Given the description of an element on the screen output the (x, y) to click on. 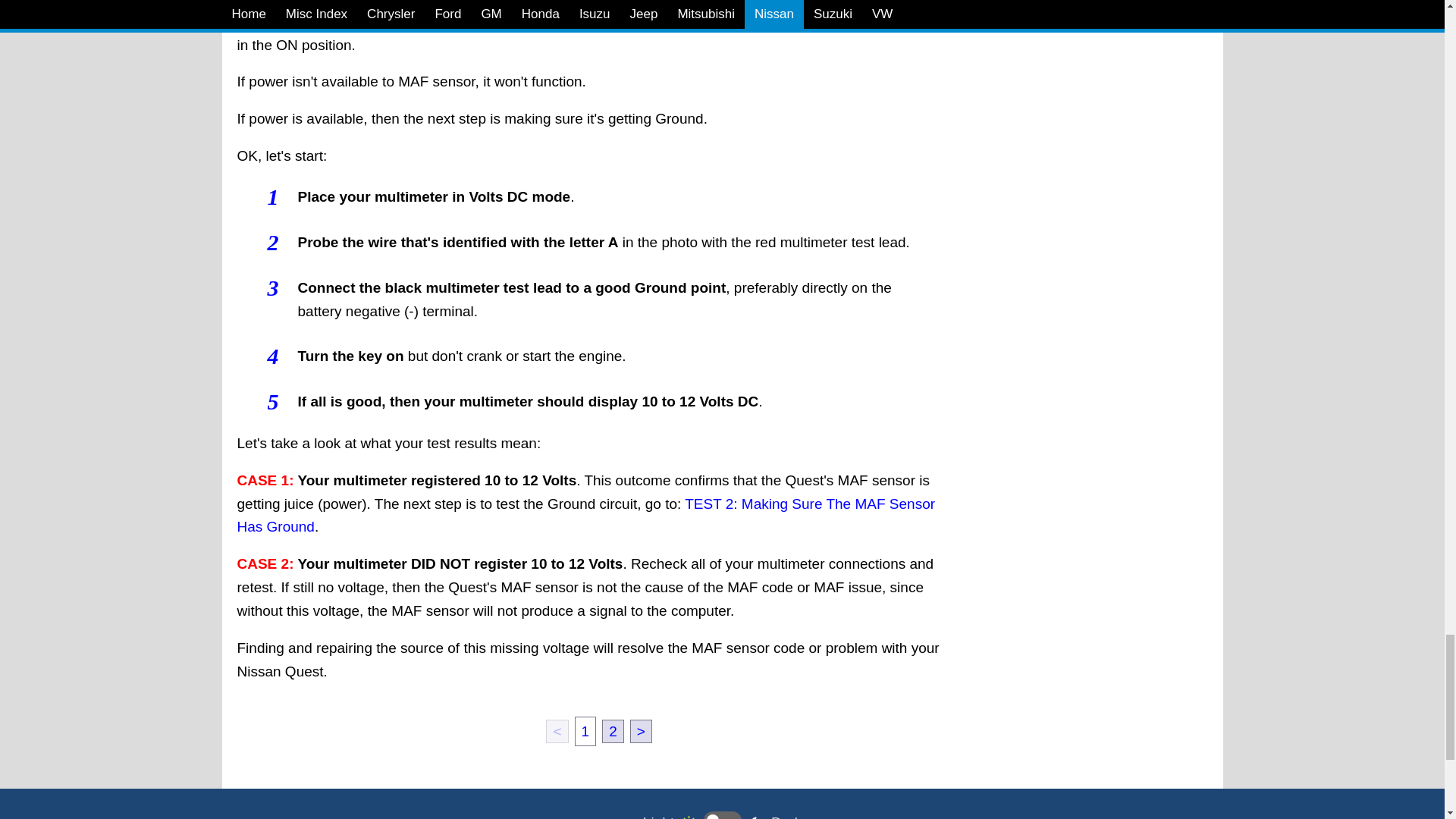
Page 2: Page 2 (613, 730)
Next (641, 730)
